Given the description of an element on the screen output the (x, y) to click on. 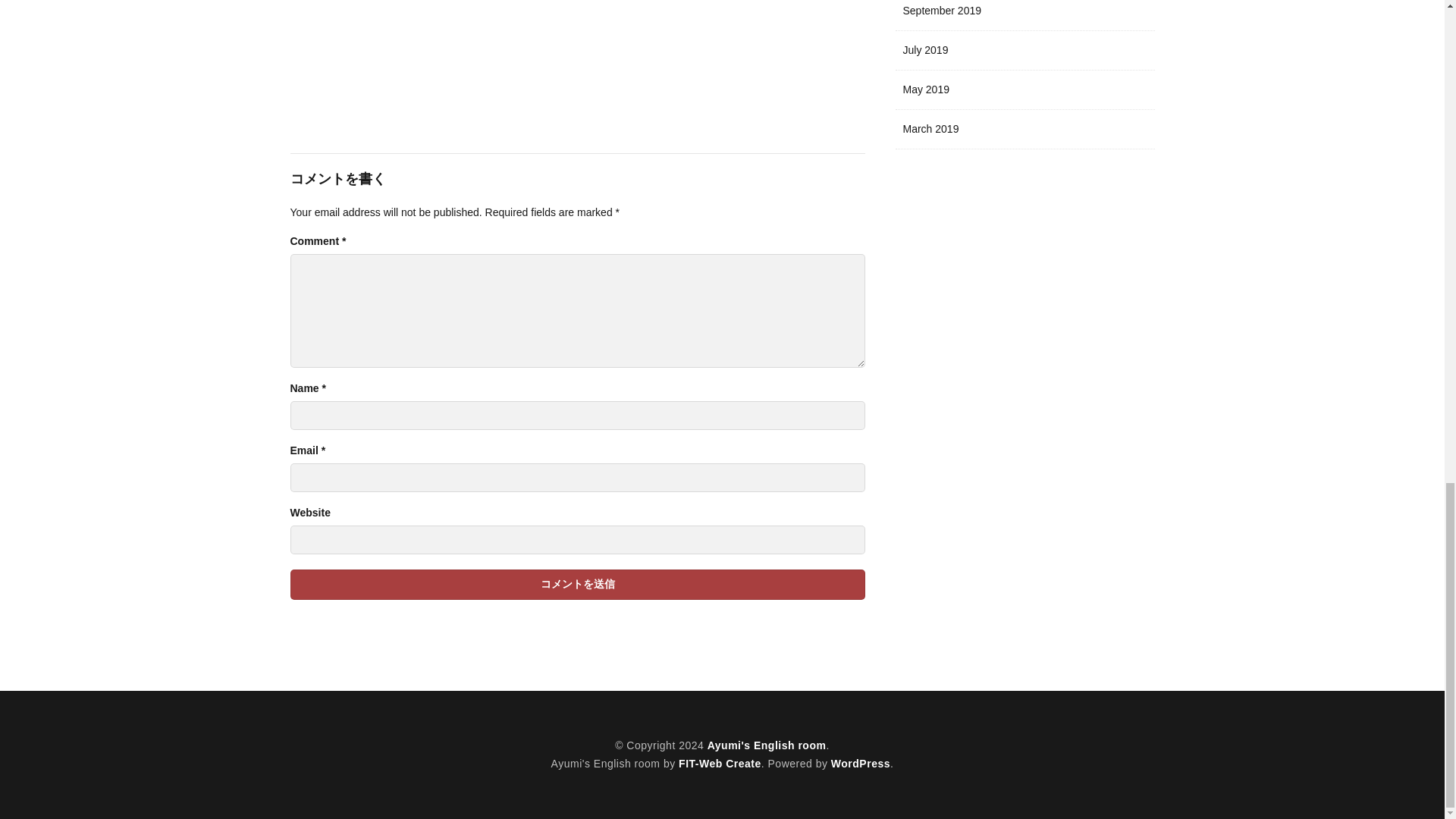
September 2019 (1024, 15)
Fireworks festival 2019 in Japan (576, 53)
WordPress (860, 763)
July 2019 (1024, 50)
Ayumi's English room (767, 745)
May 2019 (1024, 89)
FIT-Web Create (719, 763)
March 2019 (1024, 129)
